Given the description of an element on the screen output the (x, y) to click on. 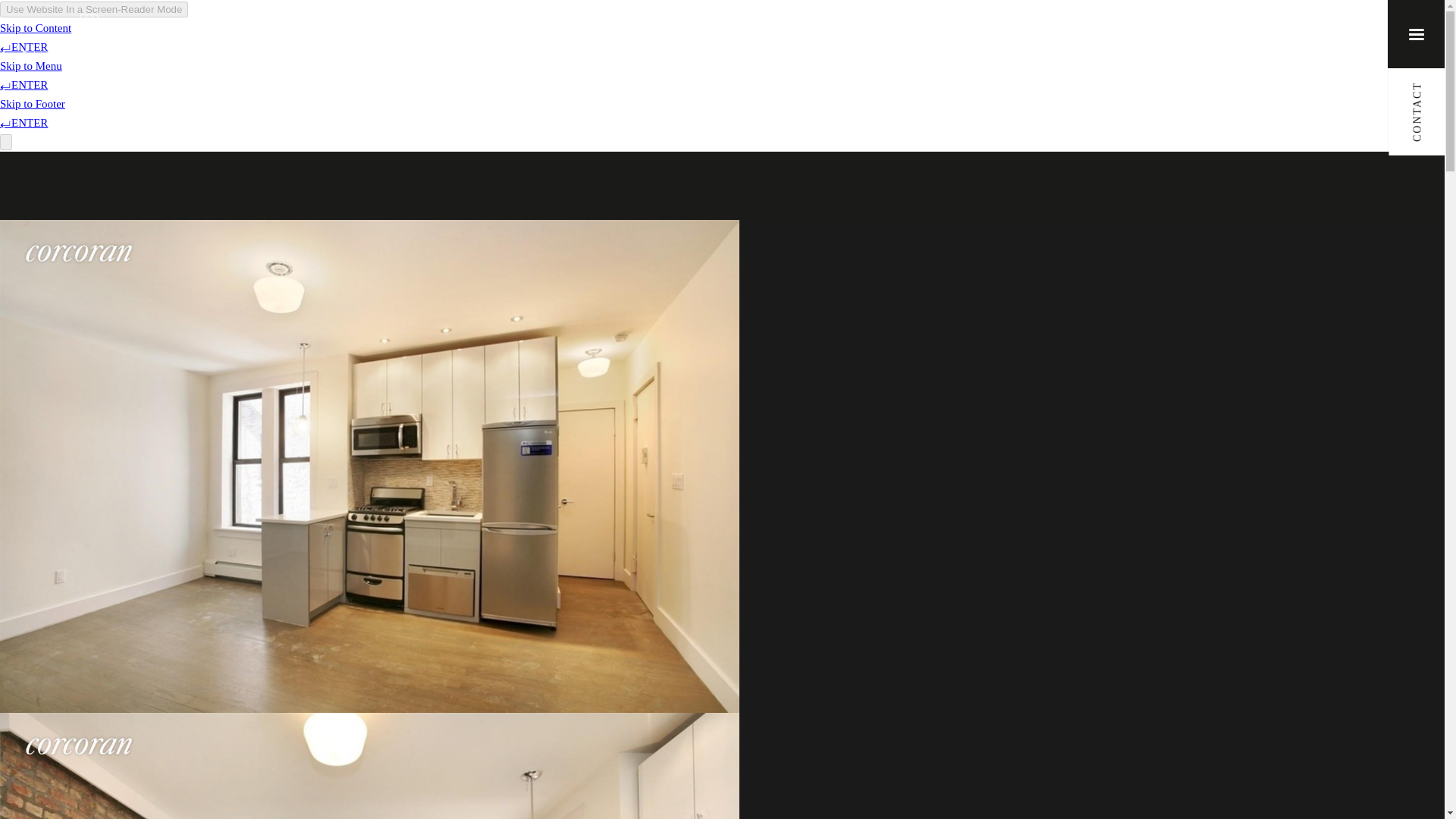
HOME SEARCH NYC (583, 33)
OUR BLOG (918, 33)
MARKET REPORTS (1020, 33)
VIDEO GALLERY (821, 33)
MEET OUR TEAM (706, 33)
HOME (398, 33)
PROPERTIES (473, 33)
CONTACT US (1128, 33)
